Given the description of an element on the screen output the (x, y) to click on. 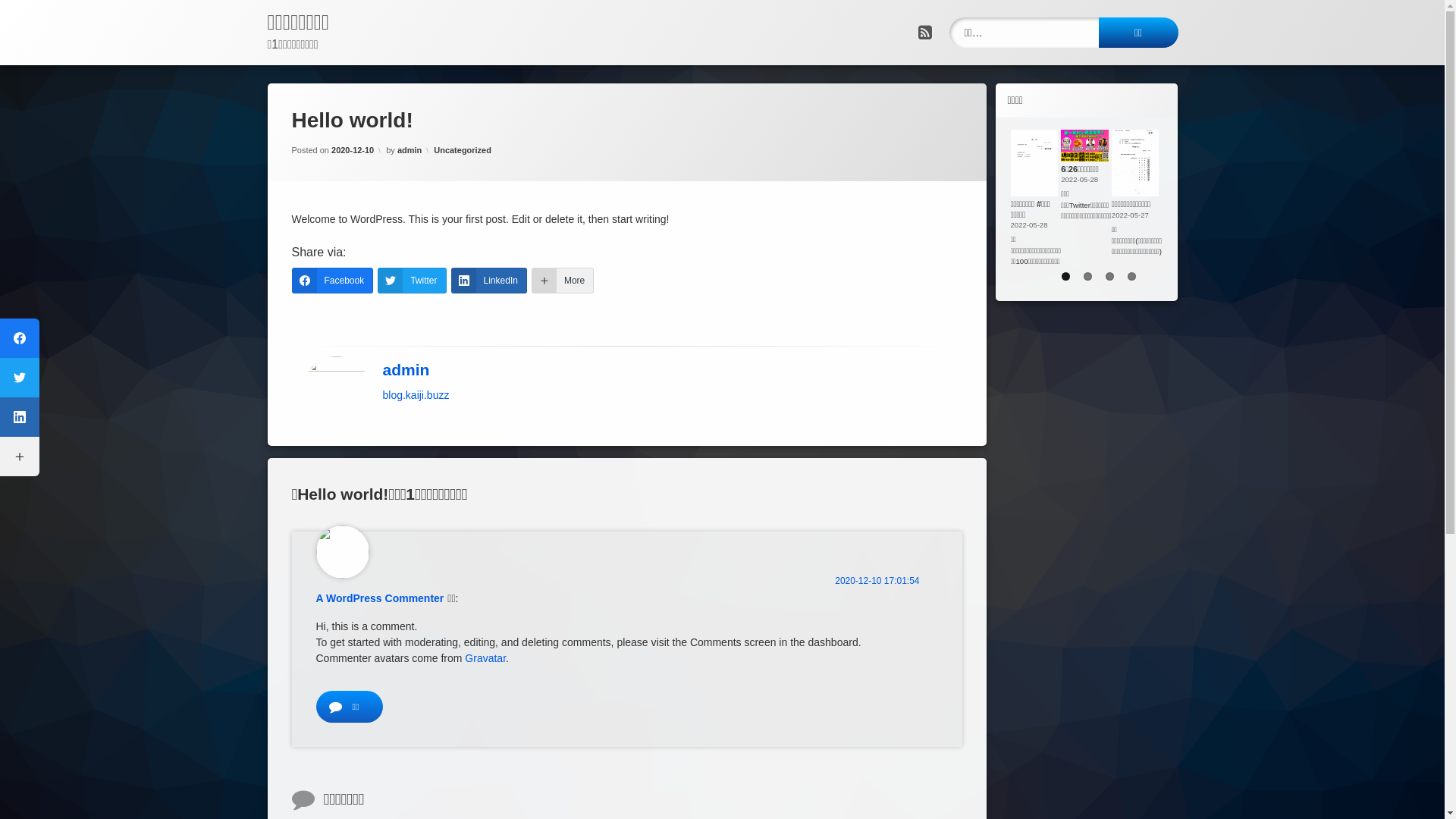
RSS Element type: text (924, 32)
2020-12-10 Element type: text (352, 149)
More Element type: text (562, 280)
1 Element type: text (1065, 276)
Gravatar Element type: text (484, 658)
LinkedIn Element type: text (489, 280)
A WordPress Commenter Element type: text (379, 598)
Facebook Element type: text (332, 280)
4 Element type: text (1130, 276)
2020-12-10 17:01:54 Element type: text (876, 580)
admin Element type: text (409, 149)
blog.kaiji.buzz Element type: text (415, 395)
2 Element type: text (1086, 276)
3 Element type: text (1109, 276)
admin Element type: text (405, 369)
Uncategorized Element type: text (462, 149)
Twitter Element type: text (411, 280)
